Given the description of an element on the screen output the (x, y) to click on. 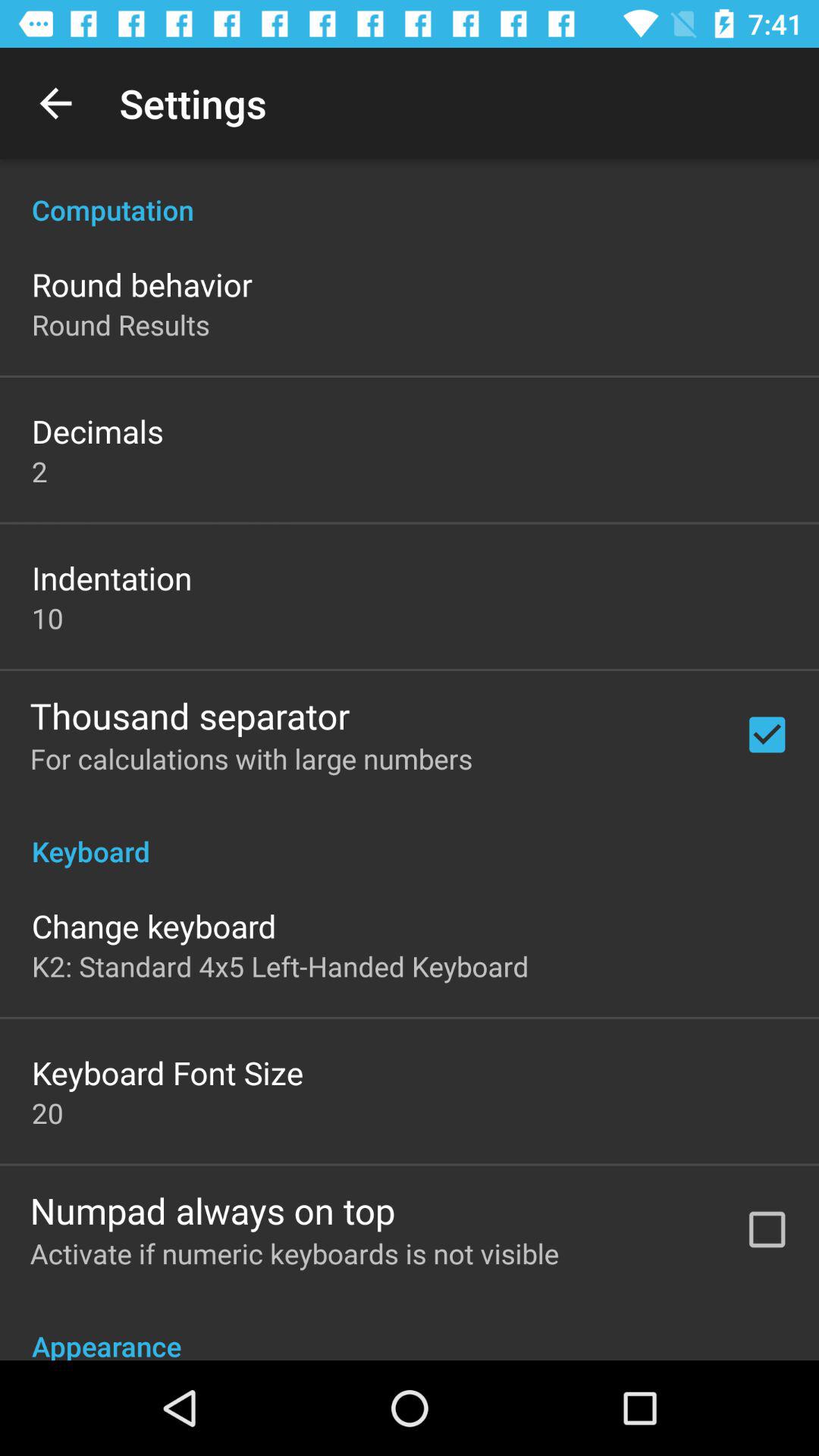
turn off the icon below activate if numeric (409, 1327)
